Given the description of an element on the screen output the (x, y) to click on. 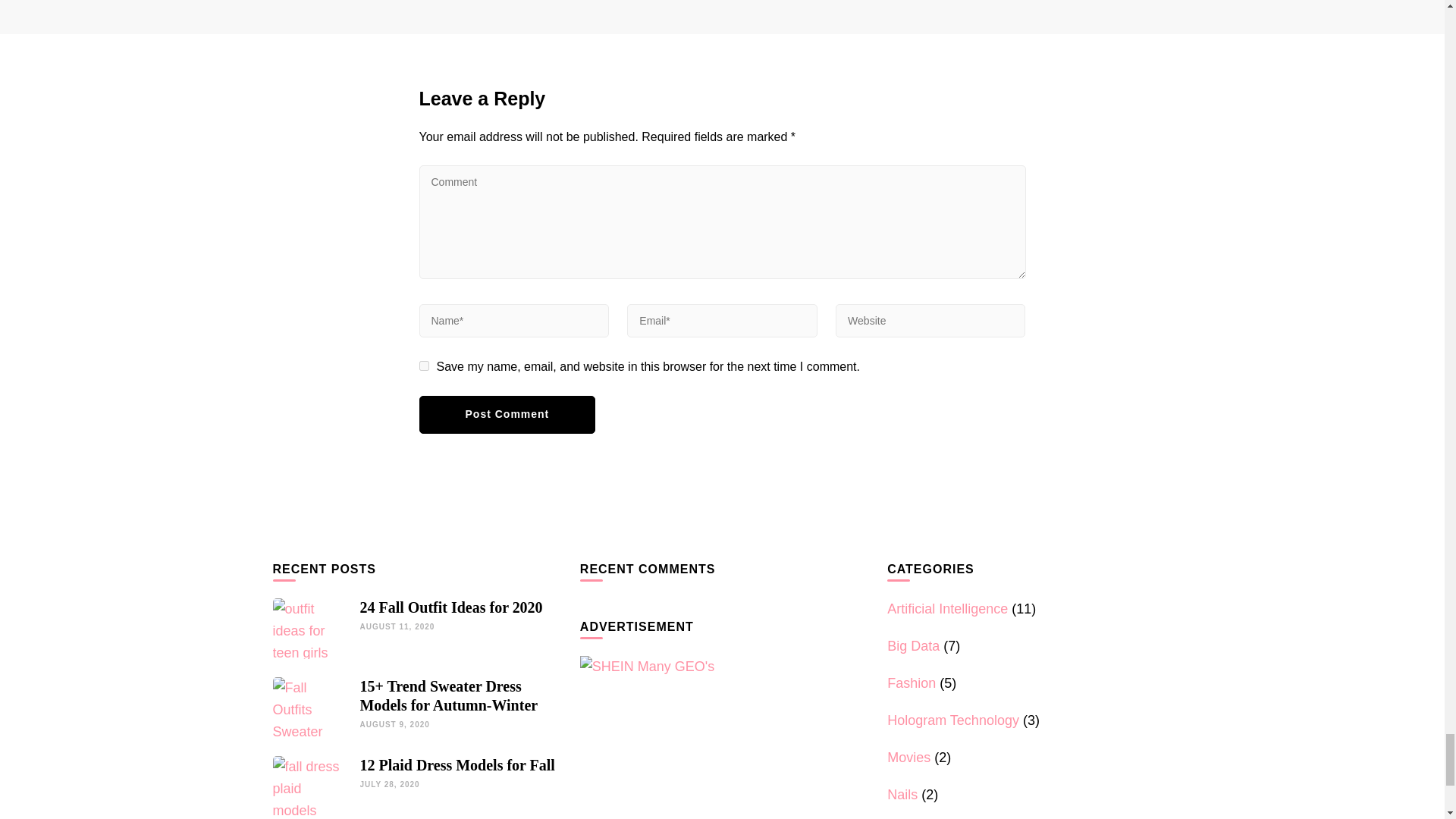
Post Comment (507, 414)
Post Comment (507, 414)
yes (423, 366)
